Given the description of an element on the screen output the (x, y) to click on. 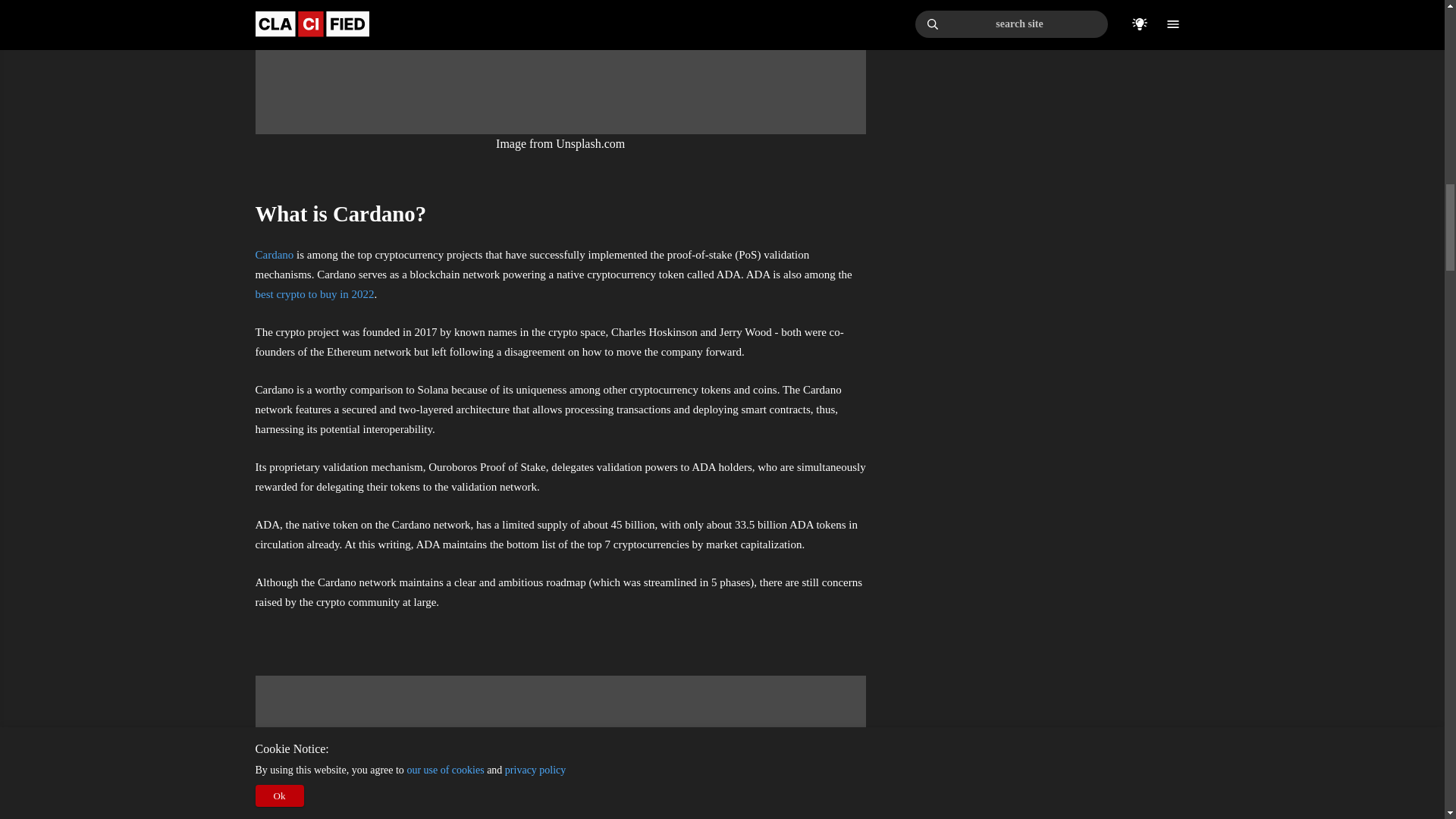
Cardano (274, 254)
best crypto to buy in 2022 (314, 294)
